Given the description of an element on the screen output the (x, y) to click on. 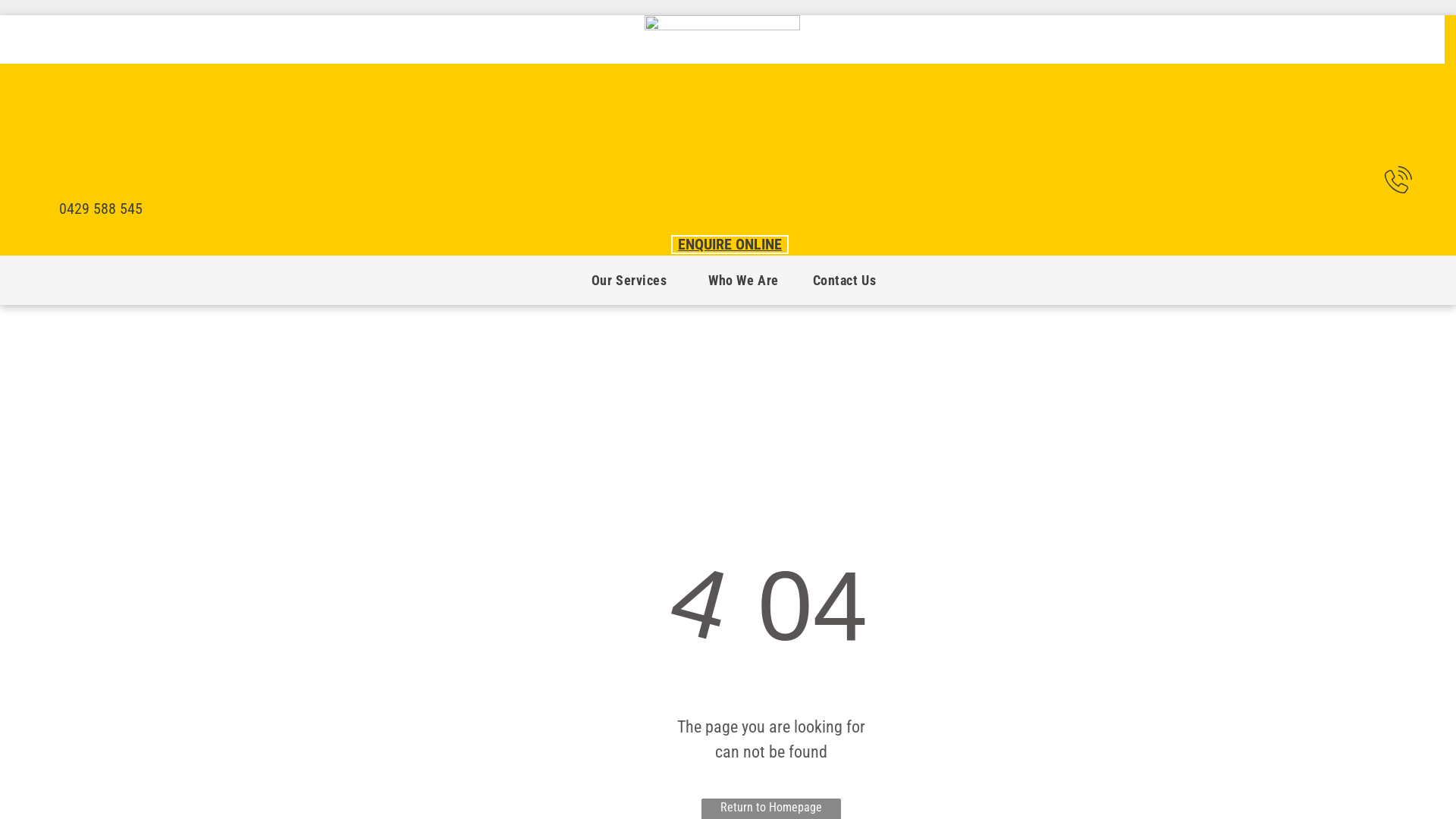
Our Services Element type: text (632, 279)
0429 588 545 Element type: text (100, 208)
Contact Us Element type: text (844, 279)
ENQUIRE ONLINE Element type: text (729, 244)
Who We Are Element type: text (742, 279)
